Given the description of an element on the screen output the (x, y) to click on. 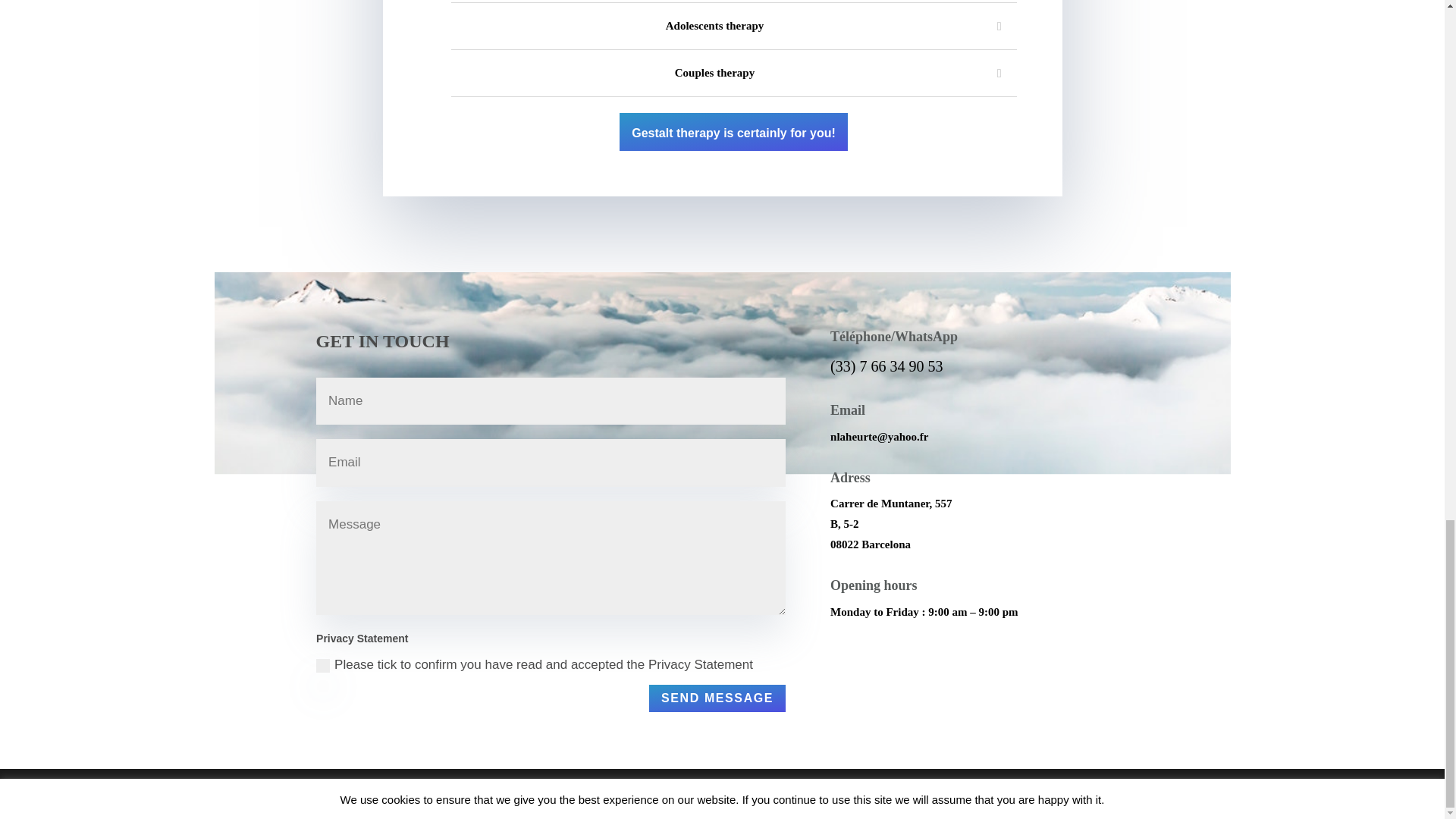
SEND MESSAGE (717, 698)
Privacy Statement (750, 784)
Mouse Coach (832, 802)
Legal Notice (681, 784)
Gestalt therapy is certainly for you! (733, 131)
Privacy Statement (699, 668)
